Given the description of an element on the screen output the (x, y) to click on. 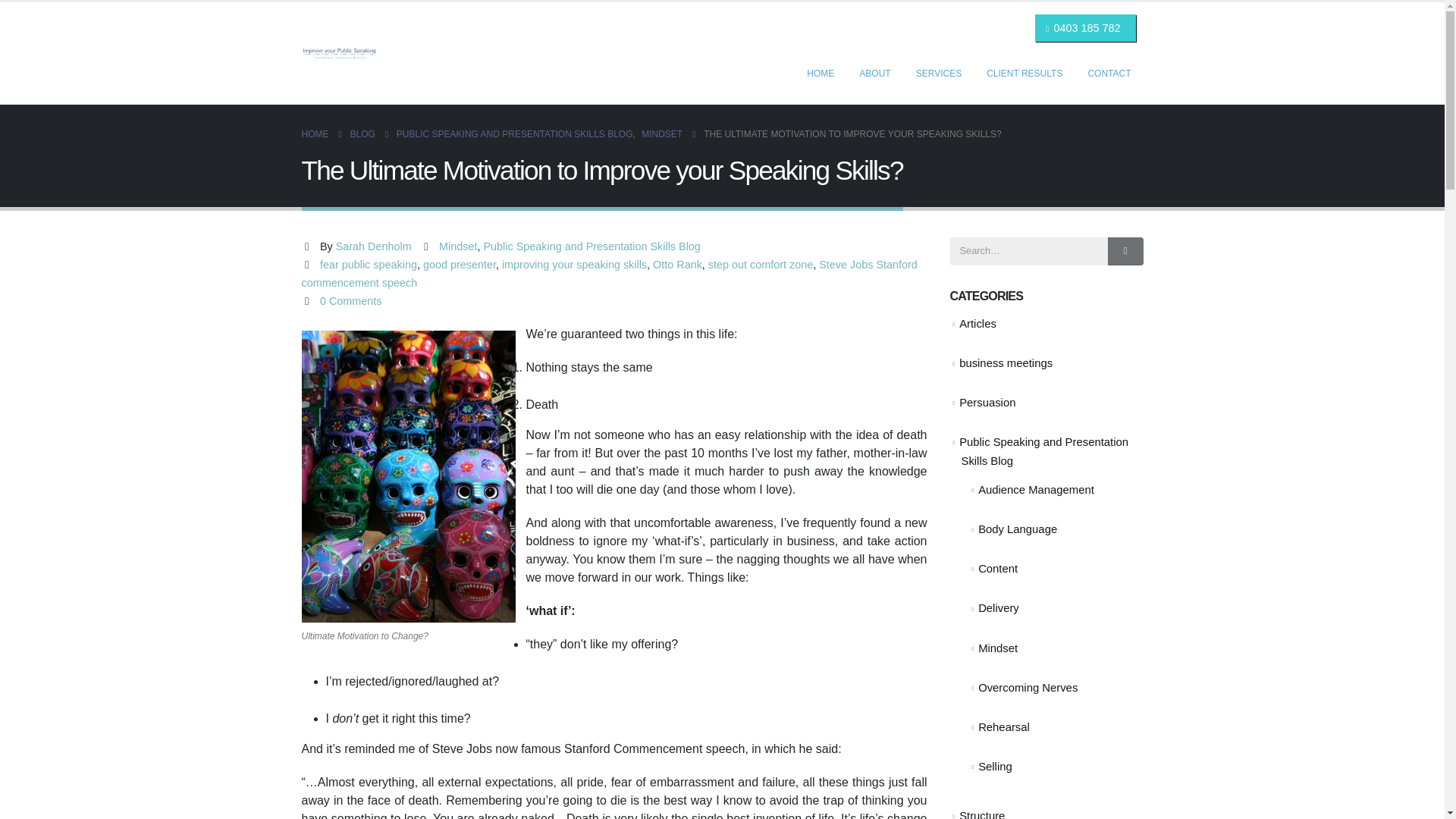
Go to Home Page (315, 134)
HOME (819, 72)
0403 185 782 (1085, 28)
CONTACT (1108, 72)
Posts by Sarah Denholm (374, 246)
SERVICES (939, 72)
ABOUT (874, 72)
0 Comments (350, 300)
CLIENT RESULTS (1024, 72)
